Given the description of an element on the screen output the (x, y) to click on. 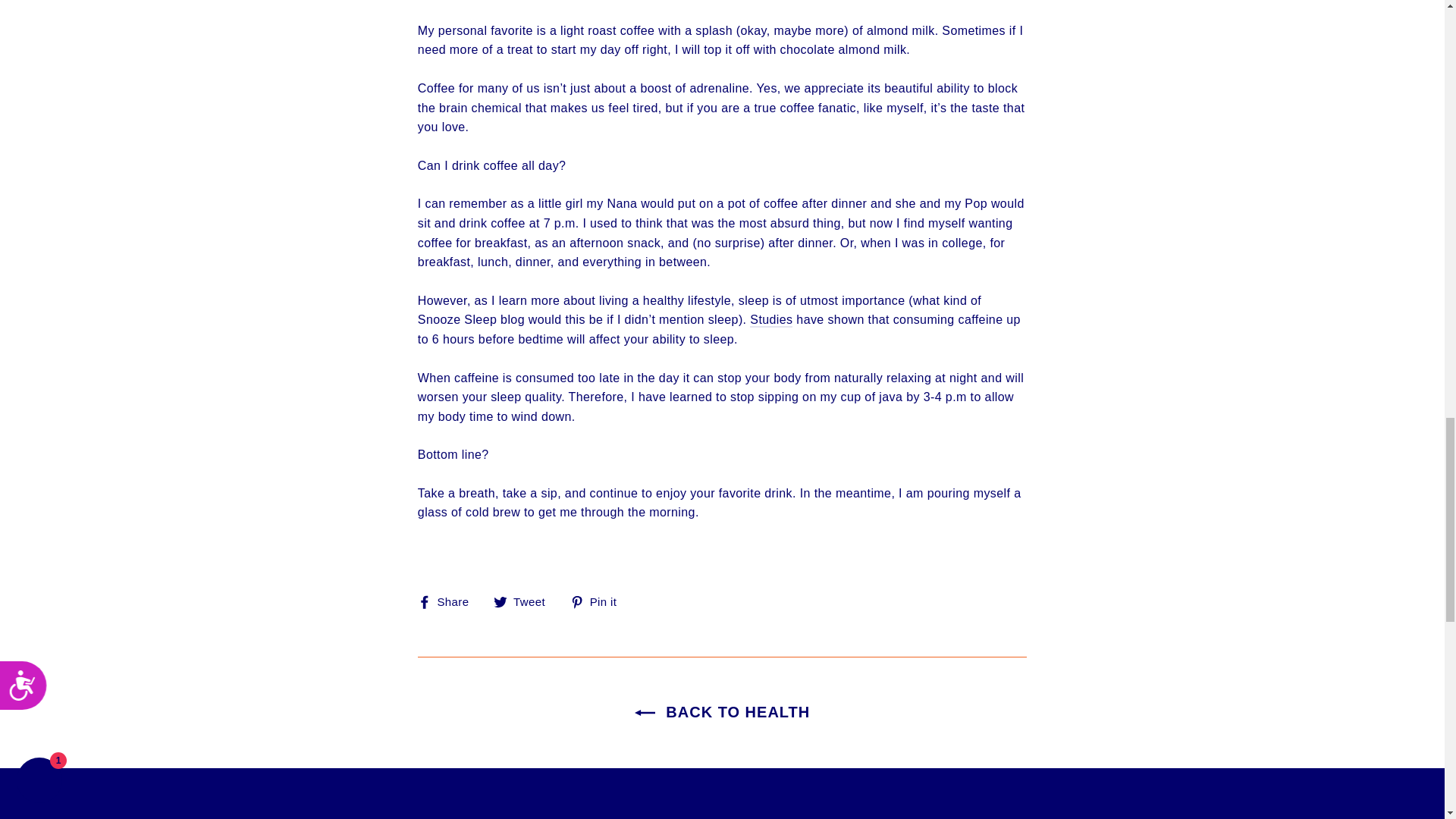
Tweet on Twitter (524, 601)
Share on Facebook (448, 601)
Pin on Pinterest (598, 601)
